Given the description of an element on the screen output the (x, y) to click on. 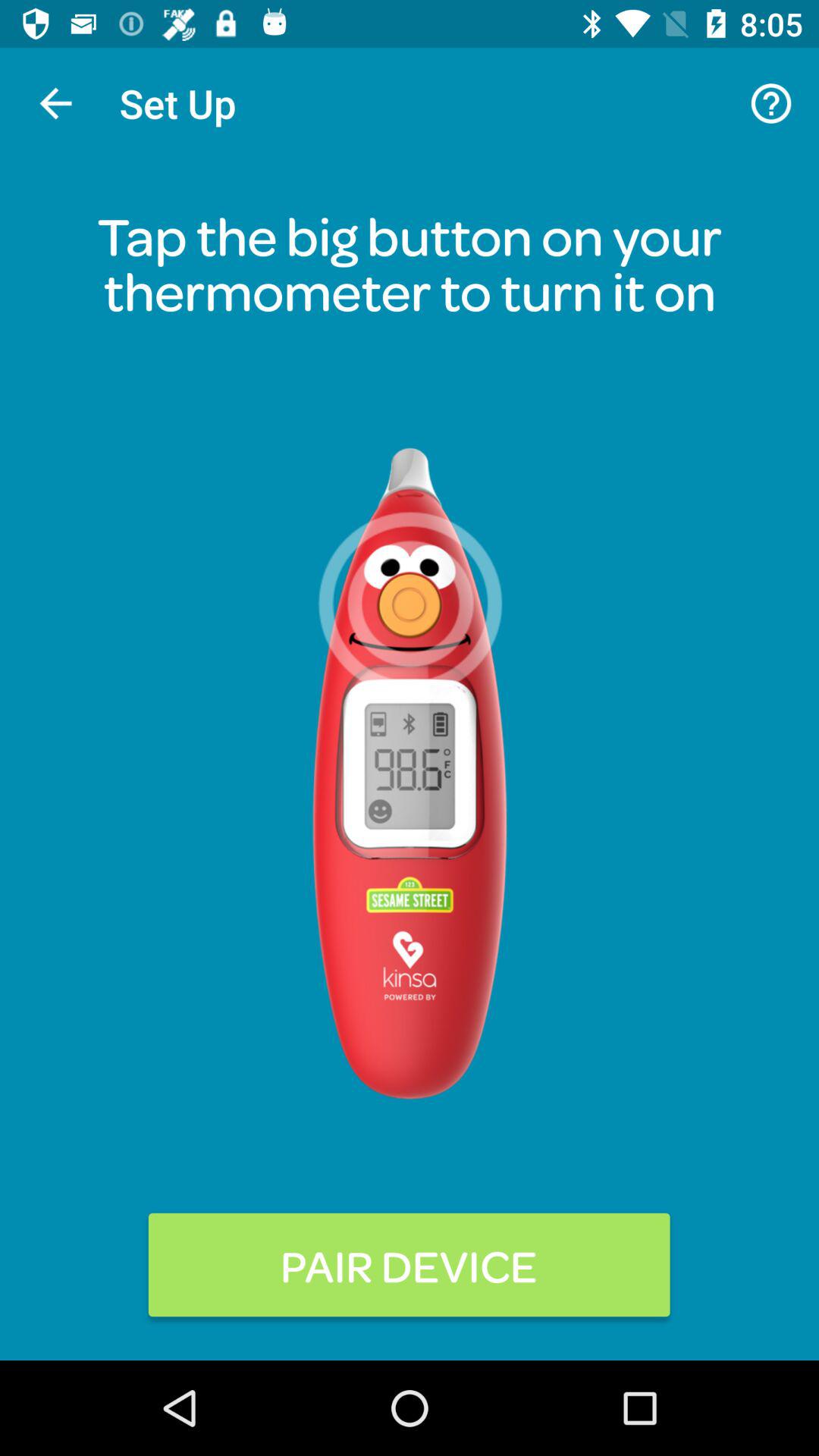
launch pair device (408, 1264)
